Given the description of an element on the screen output the (x, y) to click on. 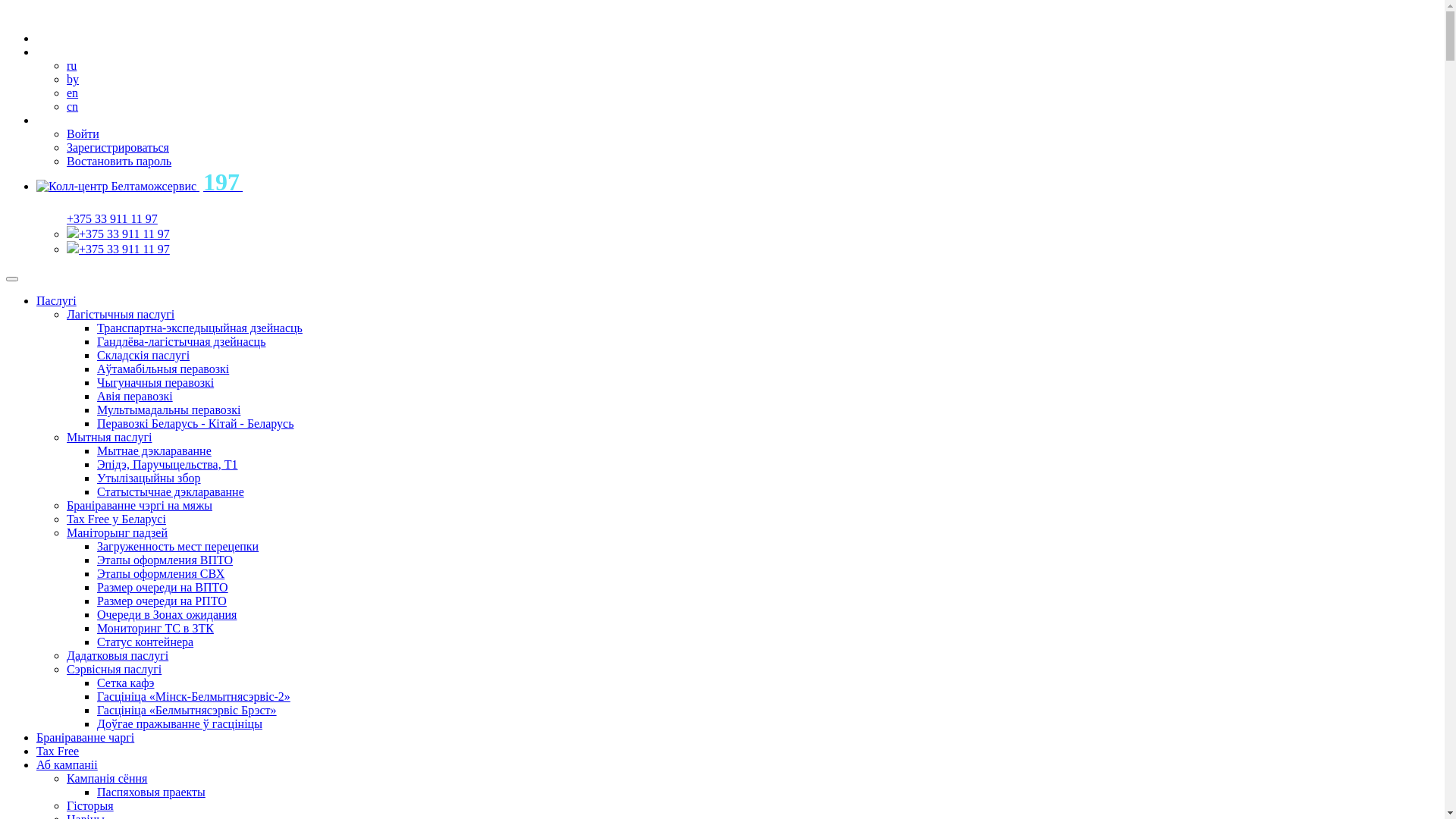
en Element type: text (72, 92)
ru Element type: text (71, 65)
+375 33 911 11 97 Element type: text (123, 248)
Tax Free Element type: text (57, 750)
+375 33 911 11 97 Element type: text (123, 233)
197 Element type: text (139, 185)
+375 33 911 11 97 Element type: text (111, 218)
cn Element type: text (72, 106)
by Element type: text (72, 78)
